Given the description of an element on the screen output the (x, y) to click on. 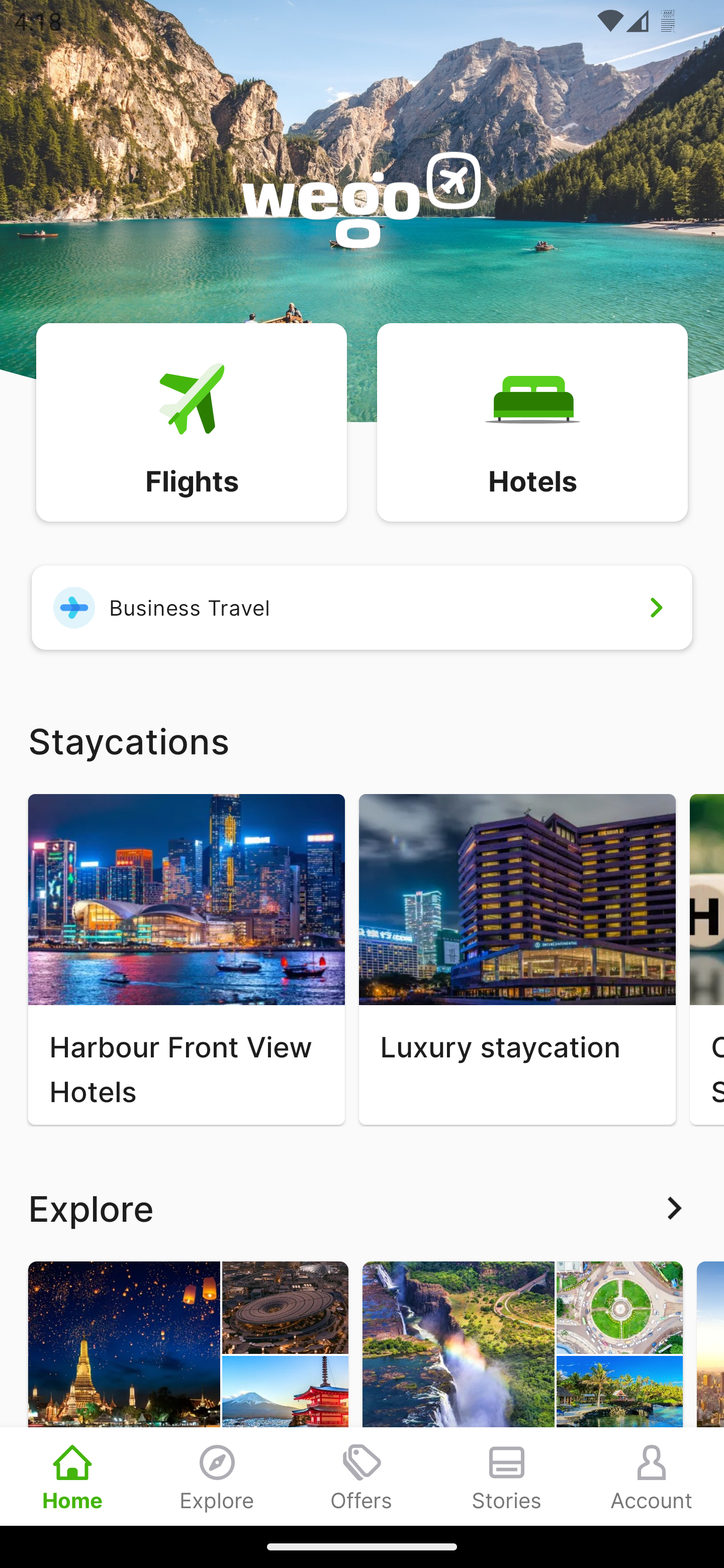
Flights (191, 420)
Hotels (532, 420)
Business Travel (361, 607)
Staycations (362, 739)
Harbour Front View Hotels (186, 958)
Luxury staycation (517, 958)
Explore (362, 1207)
Popular Destinations (188, 1392)
Visa-free Countries (522, 1392)
Explore (216, 1475)
Offers (361, 1475)
Stories (506, 1475)
Account (651, 1475)
